Given the description of an element on the screen output the (x, y) to click on. 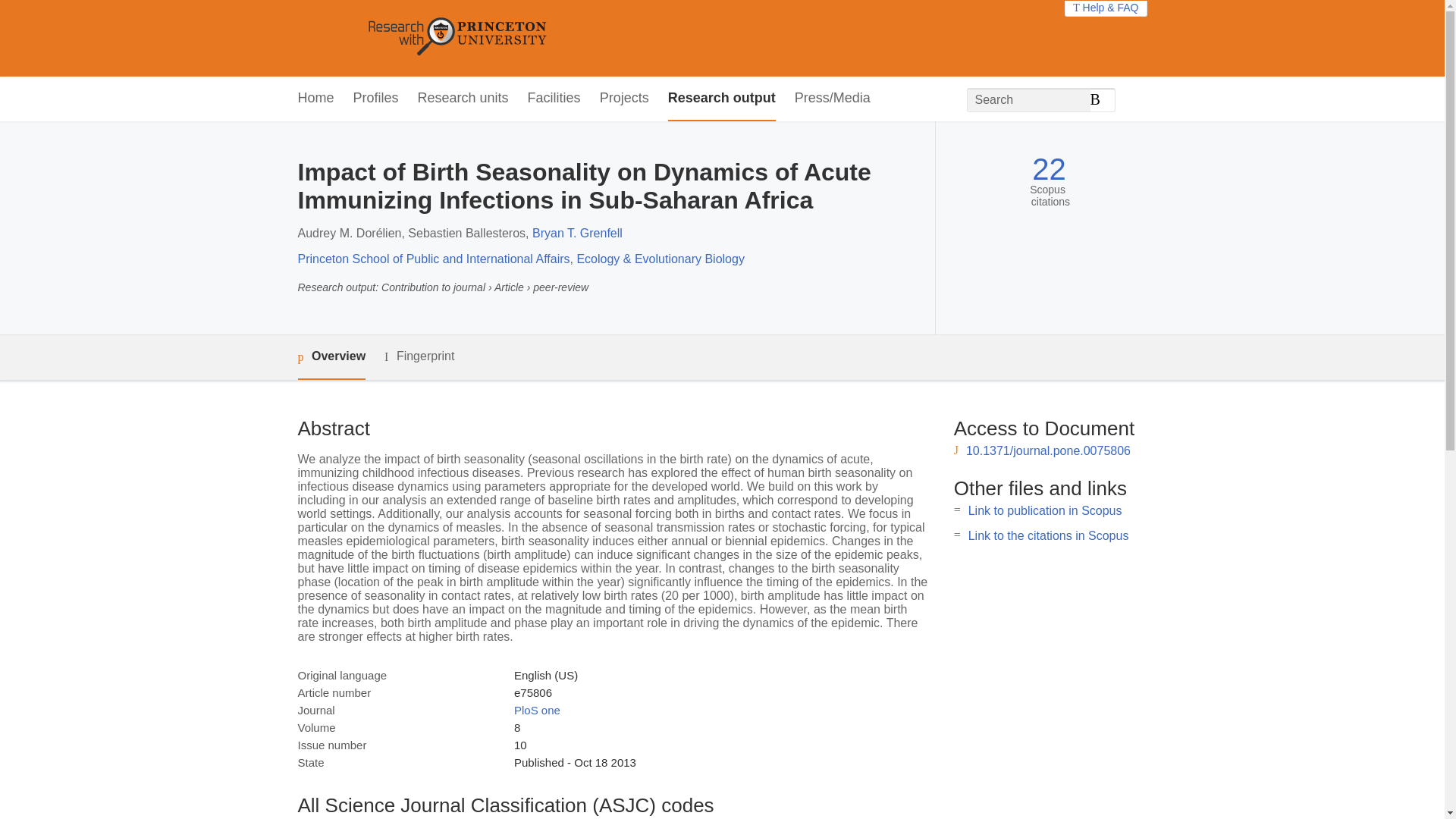
Bryan T. Grenfell (577, 232)
Princeton School of Public and International Affairs (433, 258)
Home (315, 98)
Facilities (553, 98)
Research output (722, 98)
Fingerprint (419, 356)
Projects (624, 98)
Overview (331, 357)
Profiles (375, 98)
Link to publication in Scopus (1045, 510)
22 (1048, 169)
PloS one (536, 709)
Research units (462, 98)
Princeton University Home (567, 38)
